Given the description of an element on the screen output the (x, y) to click on. 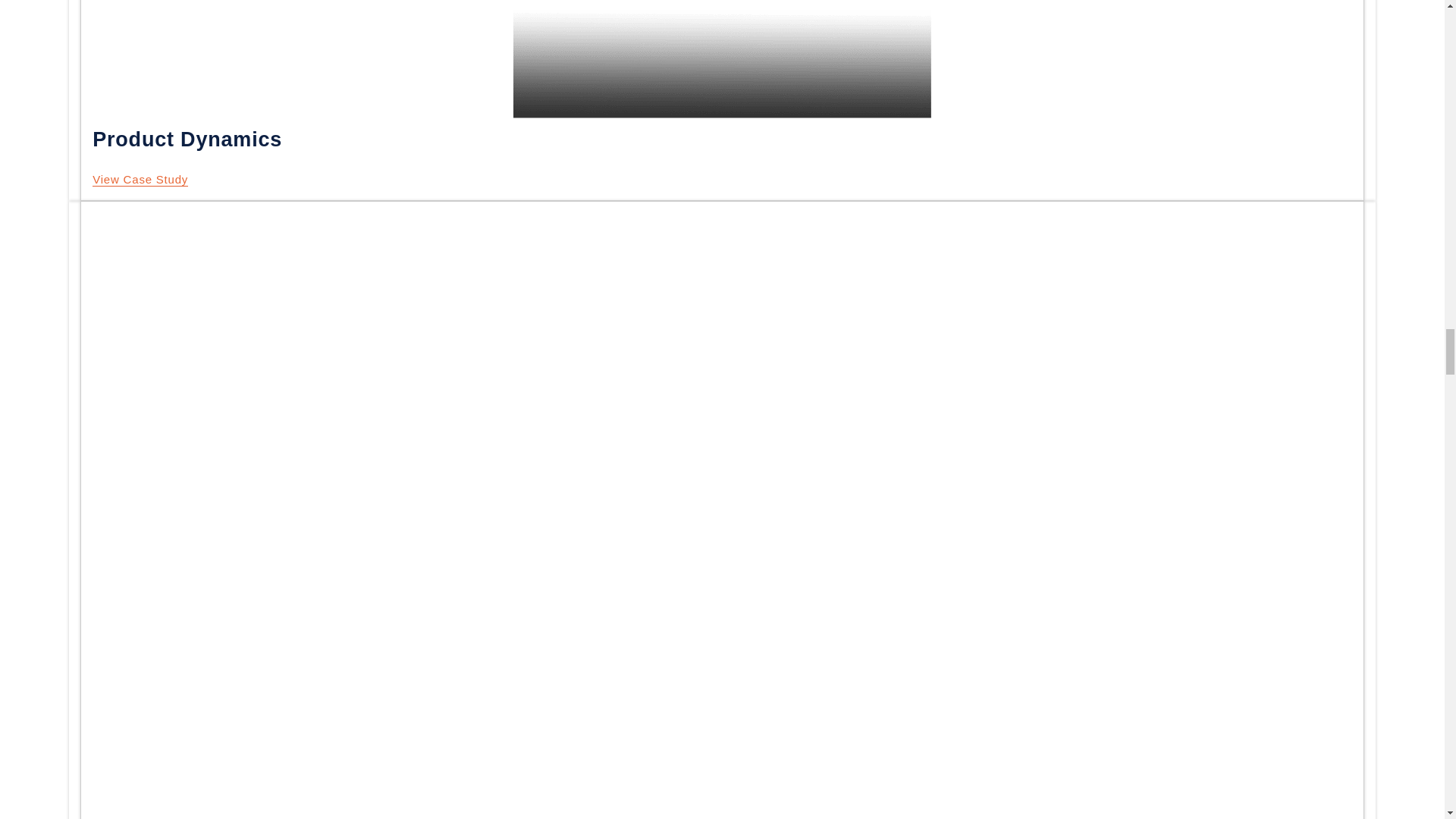
Product Dynamics (140, 179)
